Given the description of an element on the screen output the (x, y) to click on. 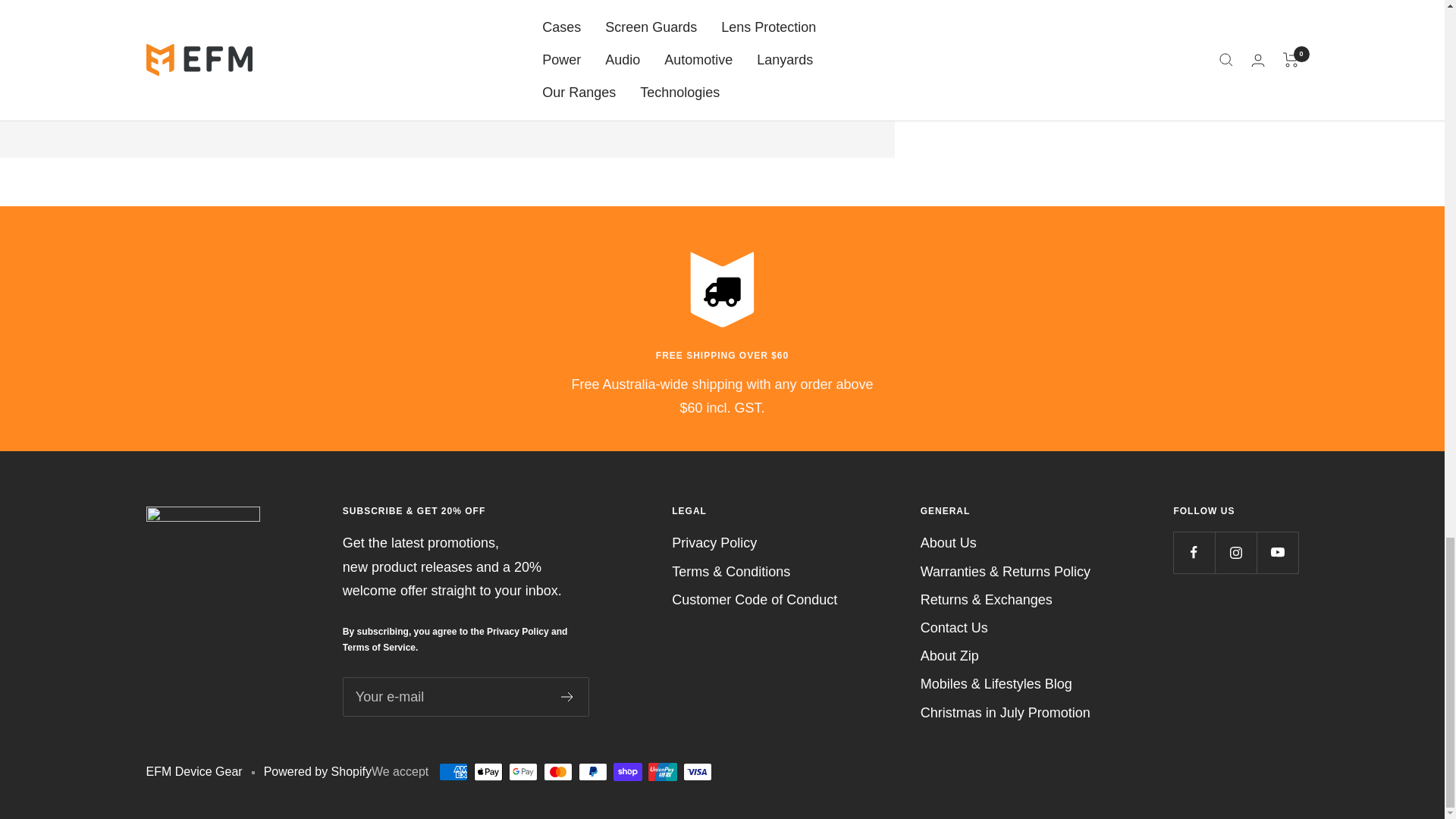
Subscribe (566, 696)
Terms of Service. (380, 647)
Privacy Policy (714, 543)
About Us (948, 543)
Christmas in July Promotion (1005, 712)
Contact Us (954, 627)
Terms of Service (380, 647)
About Zip (949, 656)
Customer Code of Conduct (754, 599)
Privacy Policy (517, 631)
Privacy Policy (517, 631)
